Given the description of an element on the screen output the (x, y) to click on. 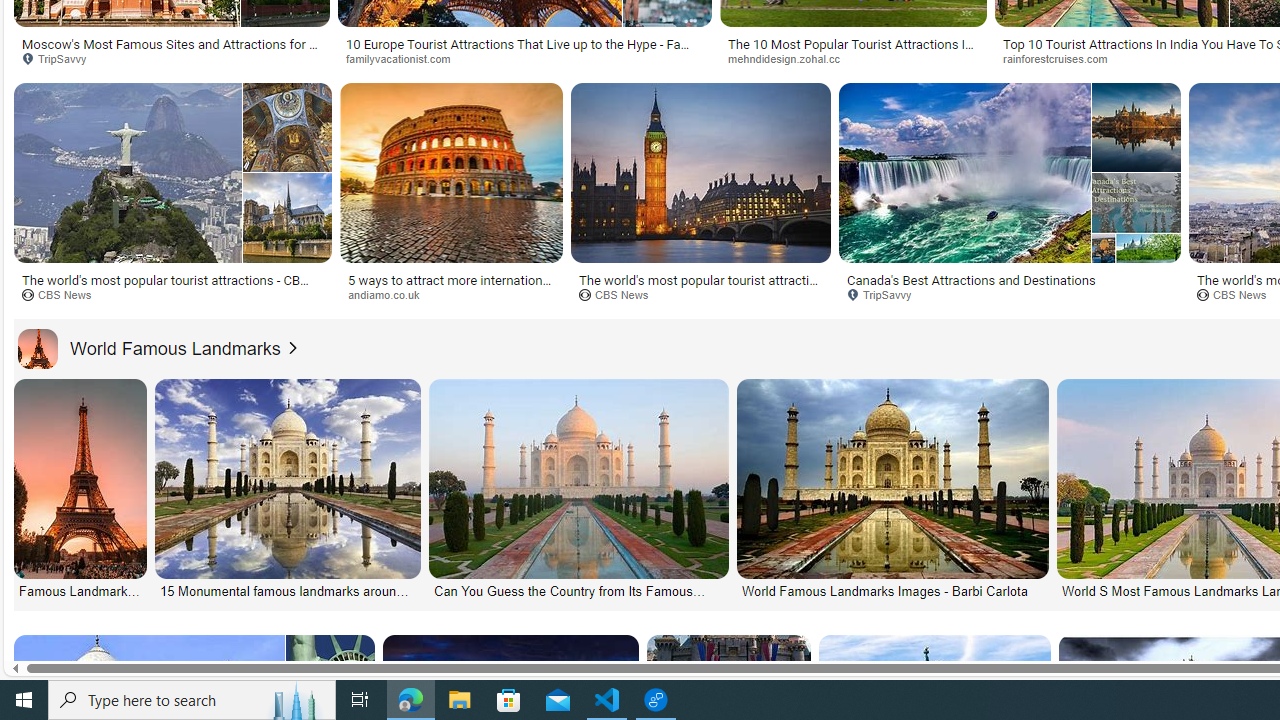
World Famous Landmarks Images - Barbi Carlota (890, 589)
andiamo.co.uk (451, 295)
Famous Landmarks in the world (82, 589)
rainforestcruises.com (1062, 57)
mehndidesign.zohal.cc (790, 57)
familyvacationist.com (404, 57)
CBS News (620, 294)
Image result for World tourist attraction (1009, 172)
Canada's Best Attractions and Destinations (971, 279)
